Given the description of an element on the screen output the (x, y) to click on. 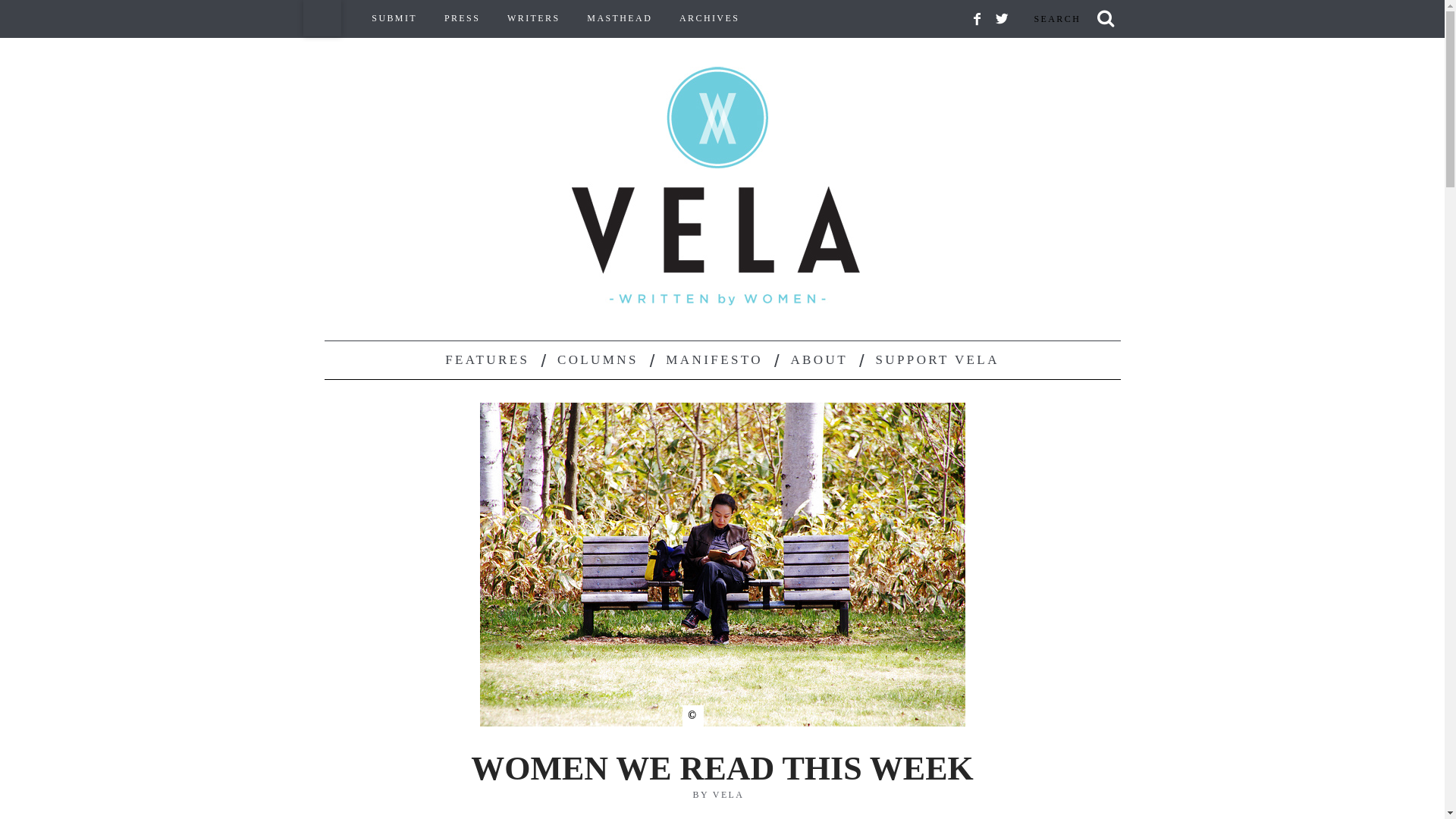
SUBMIT (393, 18)
PRESS (462, 18)
WRITERS (533, 18)
FEATURES (486, 360)
Search (1071, 18)
COLUMNS (597, 360)
MASTHEAD (619, 18)
HOME (321, 18)
ARCHIVES (709, 18)
